Given the description of an element on the screen output the (x, y) to click on. 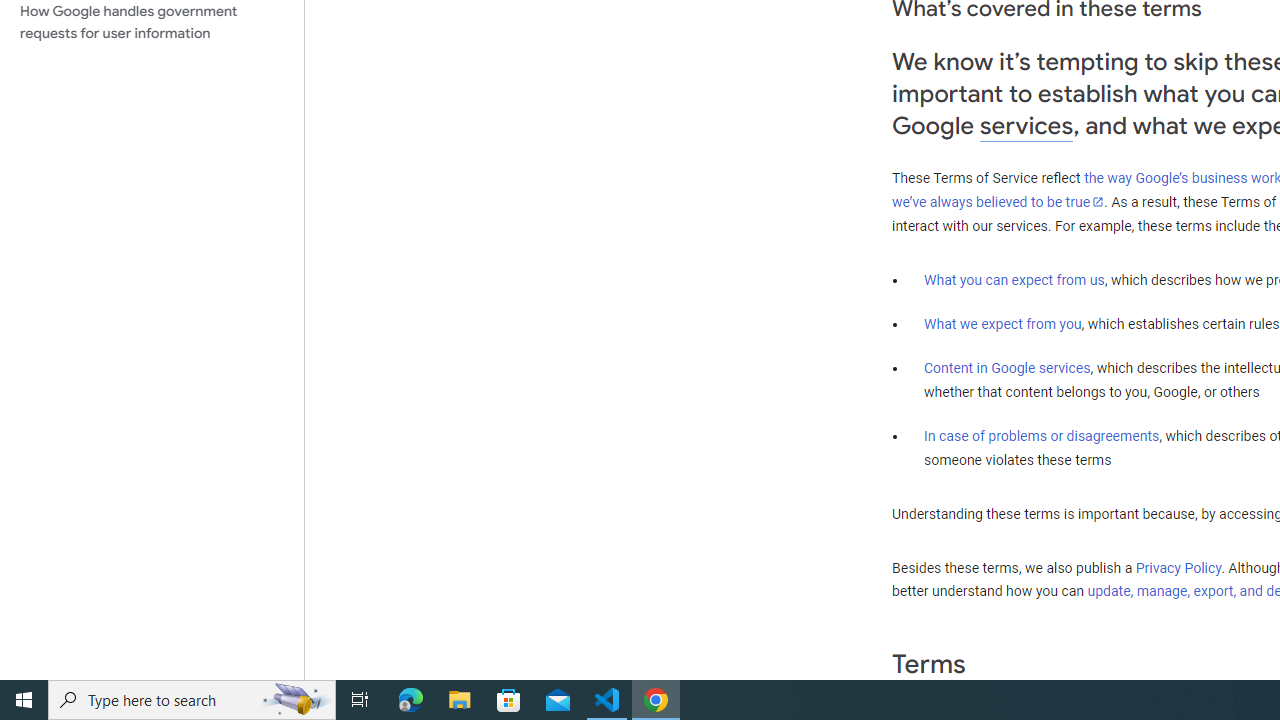
What we expect from you (1002, 323)
What you can expect from us (1014, 279)
services (1026, 125)
